Given the description of an element on the screen output the (x, y) to click on. 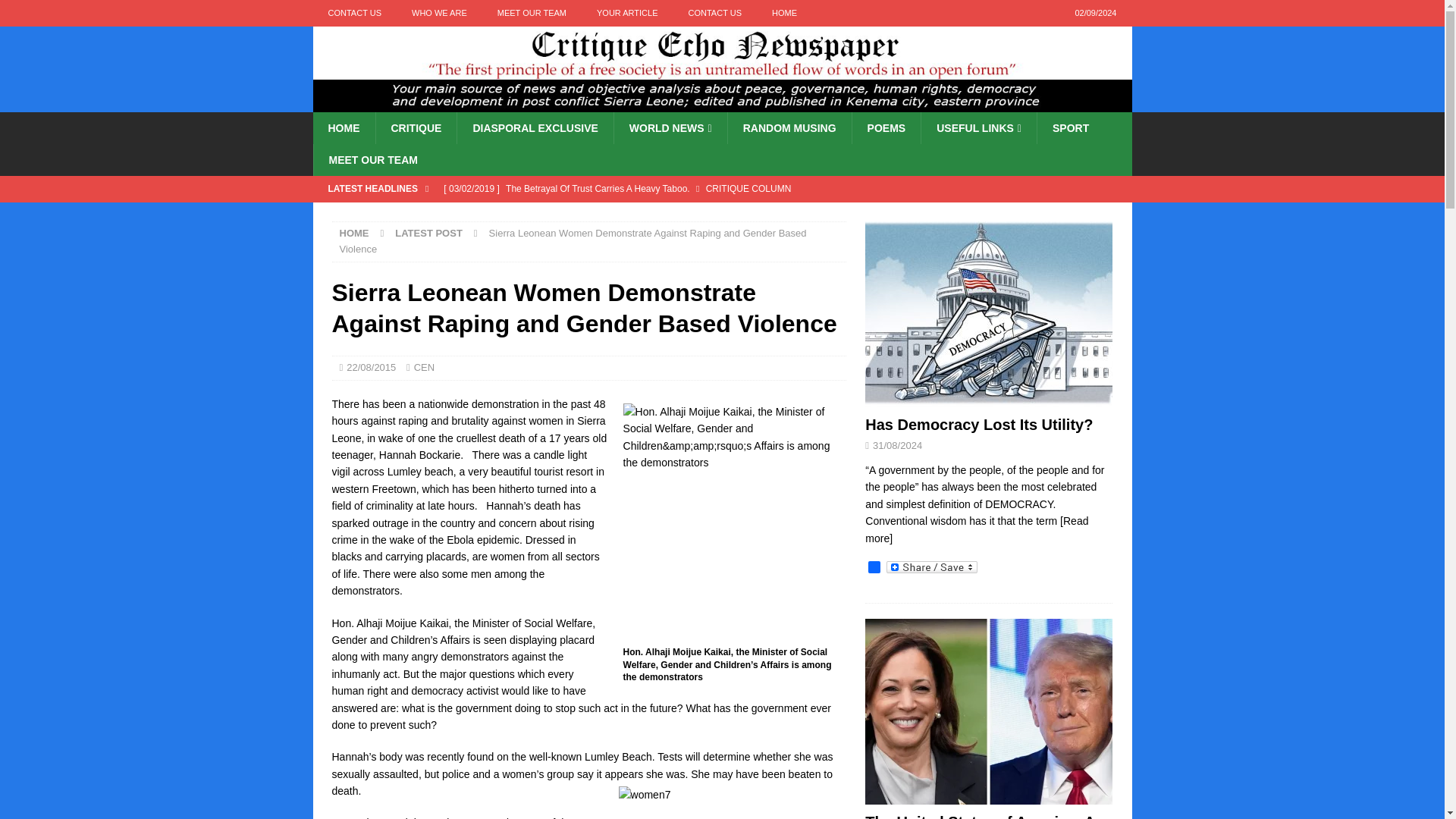
WHO WE ARE (438, 13)
CONTACT US (354, 13)
HOME (343, 128)
Has Democracy Lost Its Utility? (639, 214)
MEET OUR TEAM (530, 13)
WORLD NEWS (669, 128)
DIASPORAL EXCLUSIVE (534, 128)
HOME (784, 13)
CRITIQUE (415, 128)
YOUR ARTICLE (626, 13)
